Given the description of an element on the screen output the (x, y) to click on. 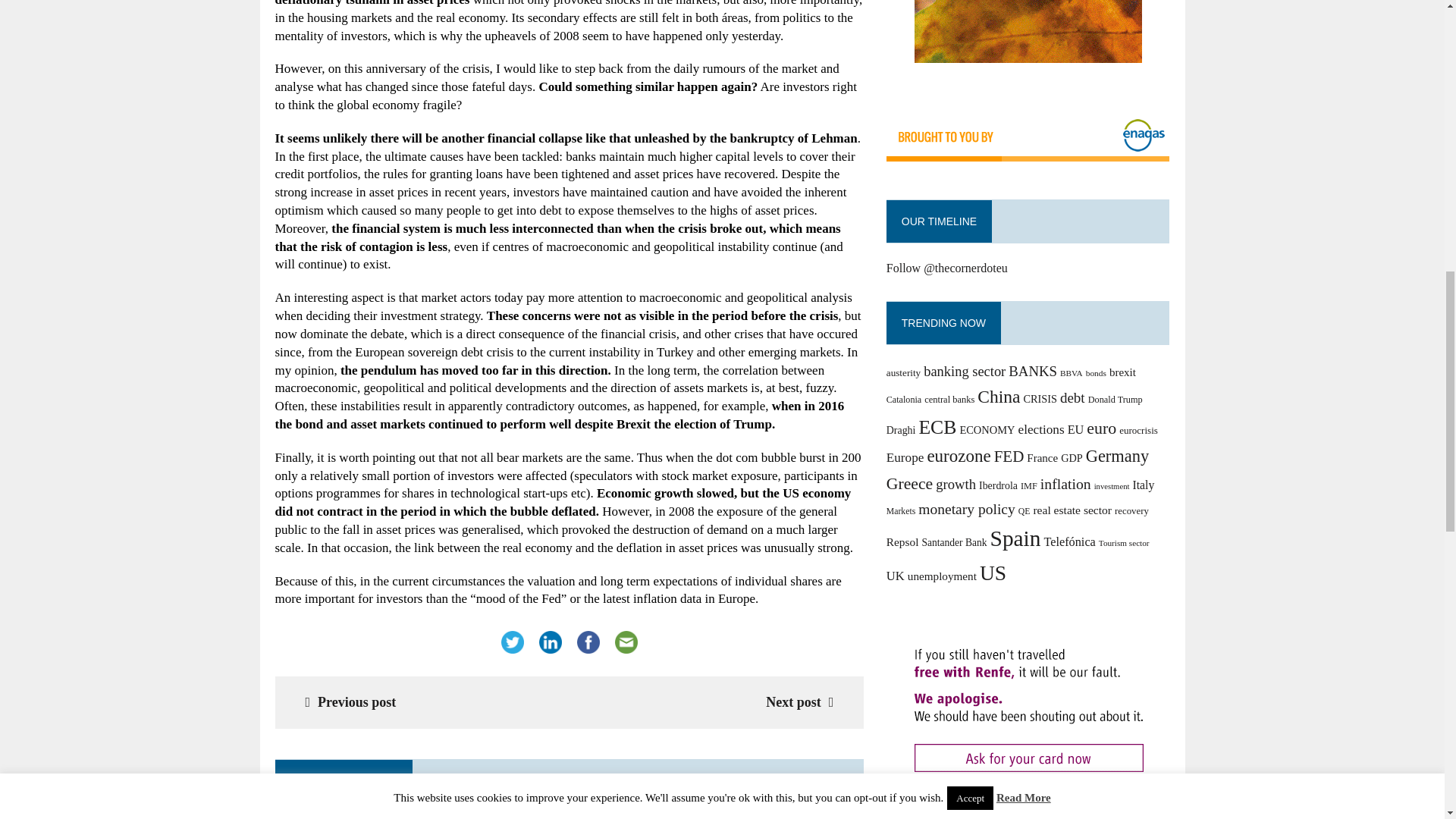
Twitter (512, 641)
Email (626, 641)
Facebook (588, 641)
LinkedIn (550, 641)
